Given the description of an element on the screen output the (x, y) to click on. 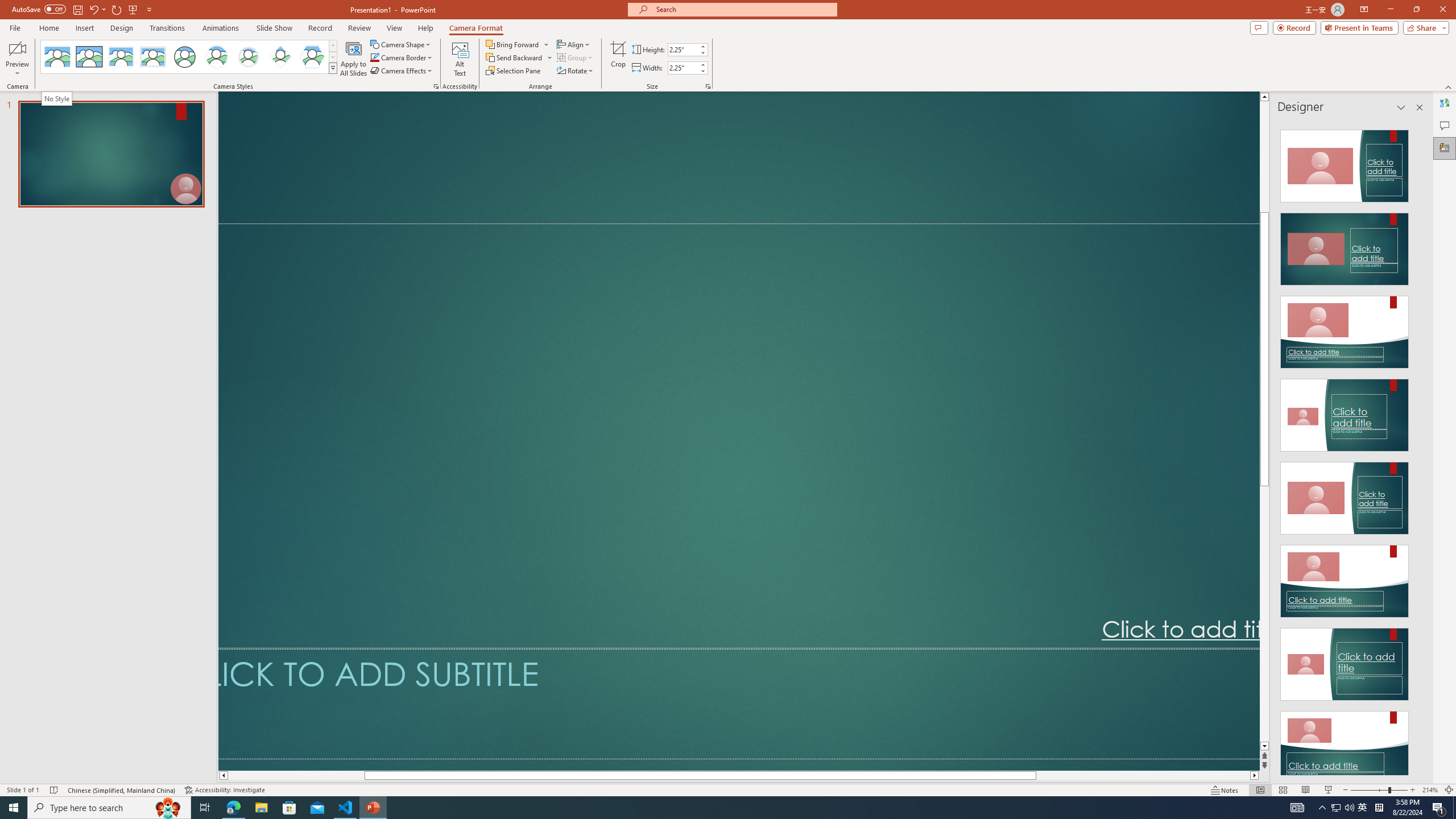
Size and Position... (707, 85)
Apply to All Slides (353, 58)
Center Shadow Hexagon (312, 56)
Soft Edge Circle (248, 56)
Simple Frame Circle (184, 56)
Camera Shape (400, 44)
Camera Styles (333, 67)
